Given the description of an element on the screen output the (x, y) to click on. 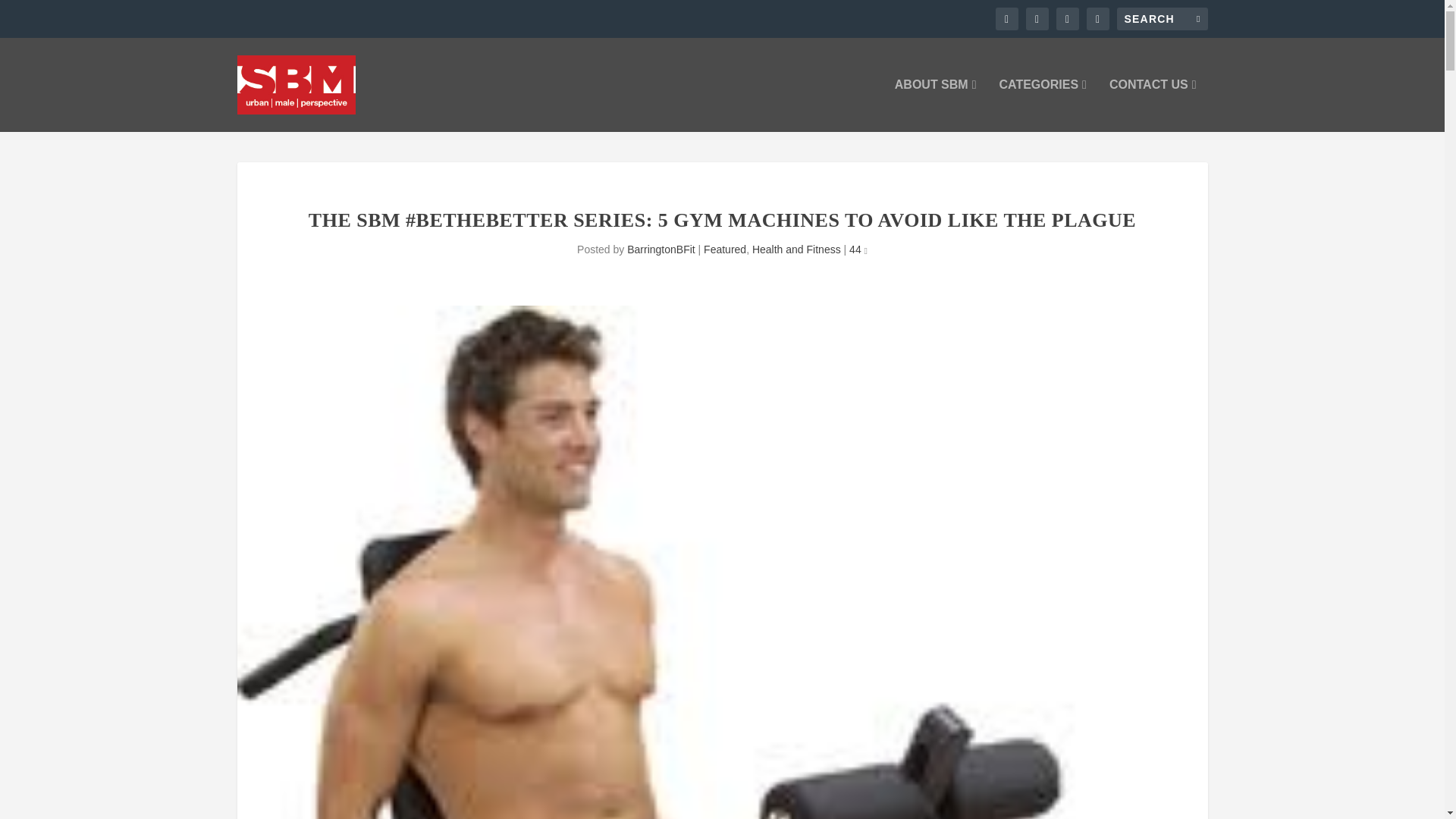
ABOUT SBM (935, 104)
CONTACT US (1152, 104)
Posts by BarringtonBFit (660, 249)
Search for: (1161, 18)
CATEGORIES (1042, 104)
